Given the description of an element on the screen output the (x, y) to click on. 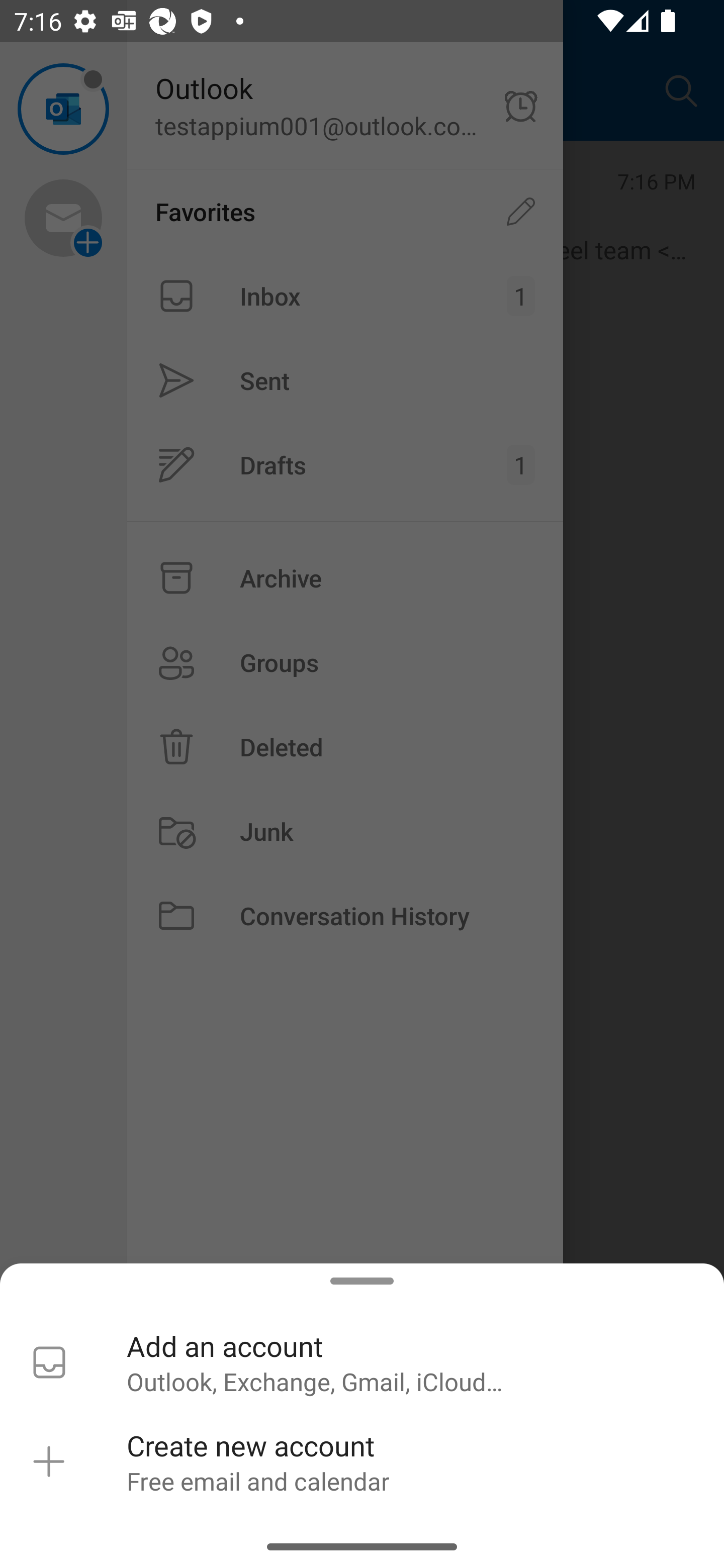
Add an account Outlook, Exchange, Gmail, iCloud… (362, 1362)
Create new account Free email and calendar (362, 1461)
